Given the description of an element on the screen output the (x, y) to click on. 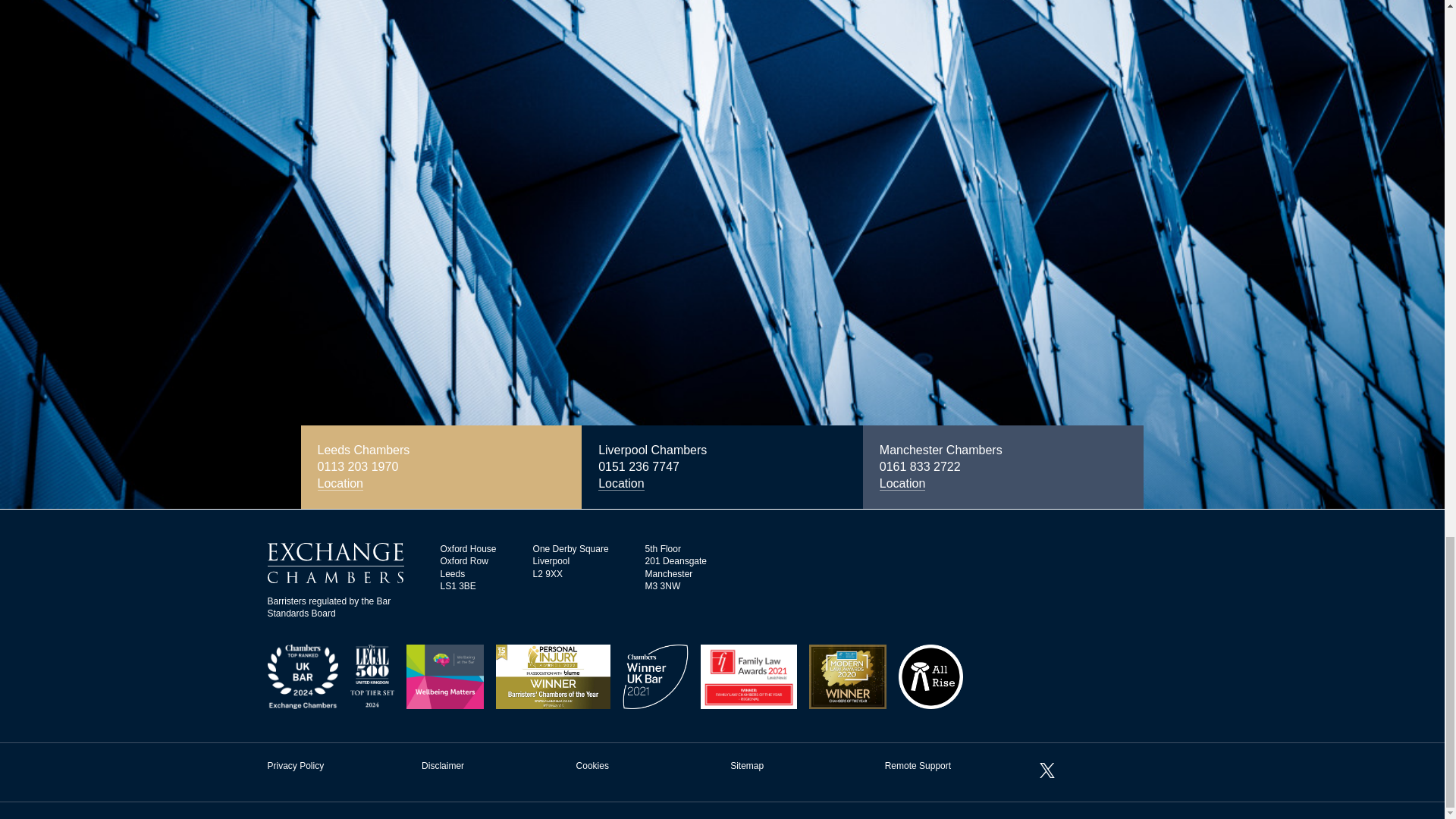
Disclaimer (443, 765)
Sitemap (746, 765)
Privacy Policy (294, 765)
Remote Support (917, 765)
Cookies (592, 765)
